Given the description of an element on the screen output the (x, y) to click on. 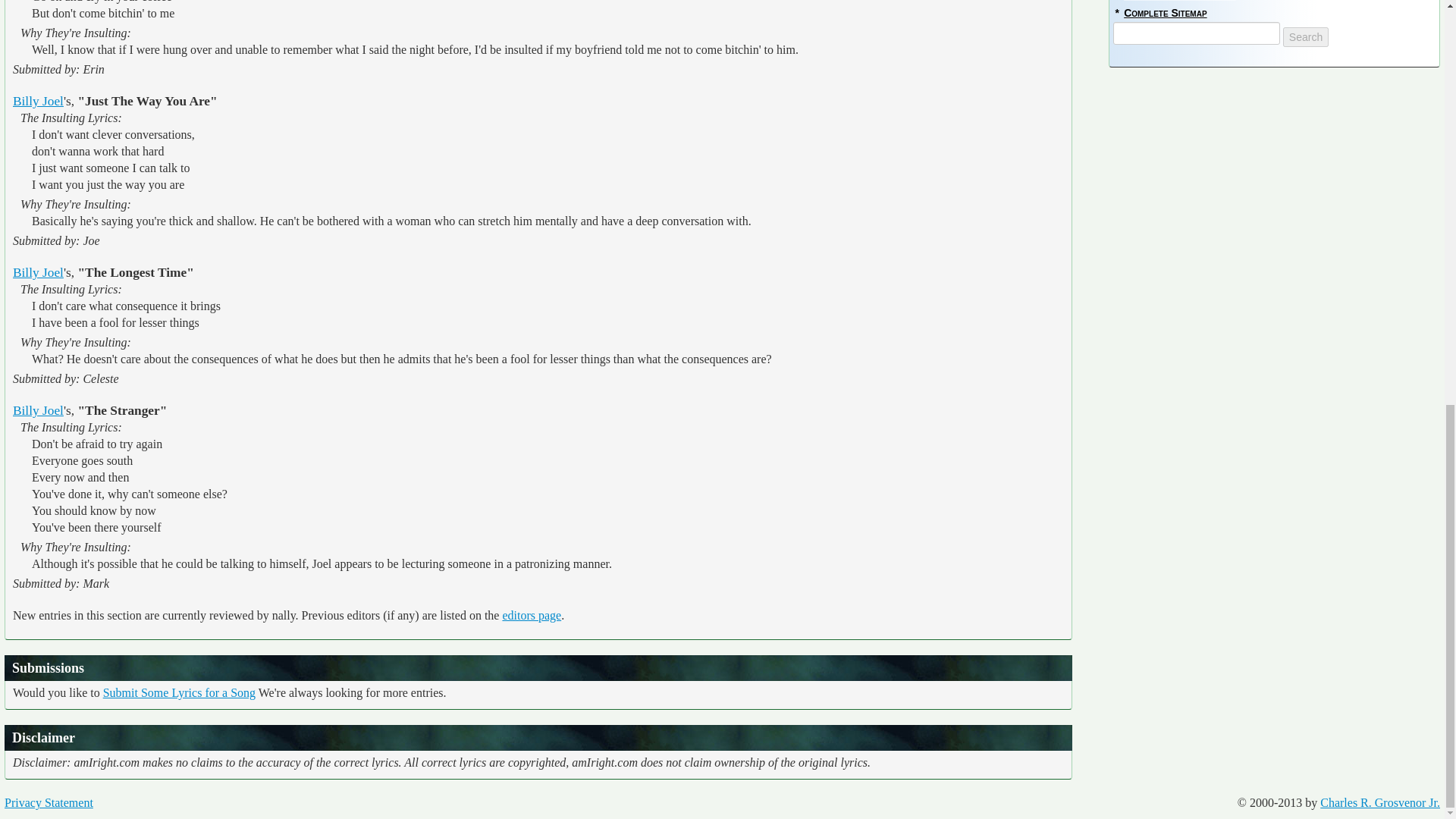
Song lyrics for Billy Joel (38, 272)
Song lyrics for Billy Joel (38, 410)
Search (1304, 35)
editors page (531, 615)
Advertisement (1273, 169)
Billy Joel (38, 101)
Submit Some Lyrics for a Song (179, 692)
Billy Joel (38, 410)
Song lyrics for Billy Joel (38, 101)
Billy Joel (38, 272)
